Given the description of an element on the screen output the (x, y) to click on. 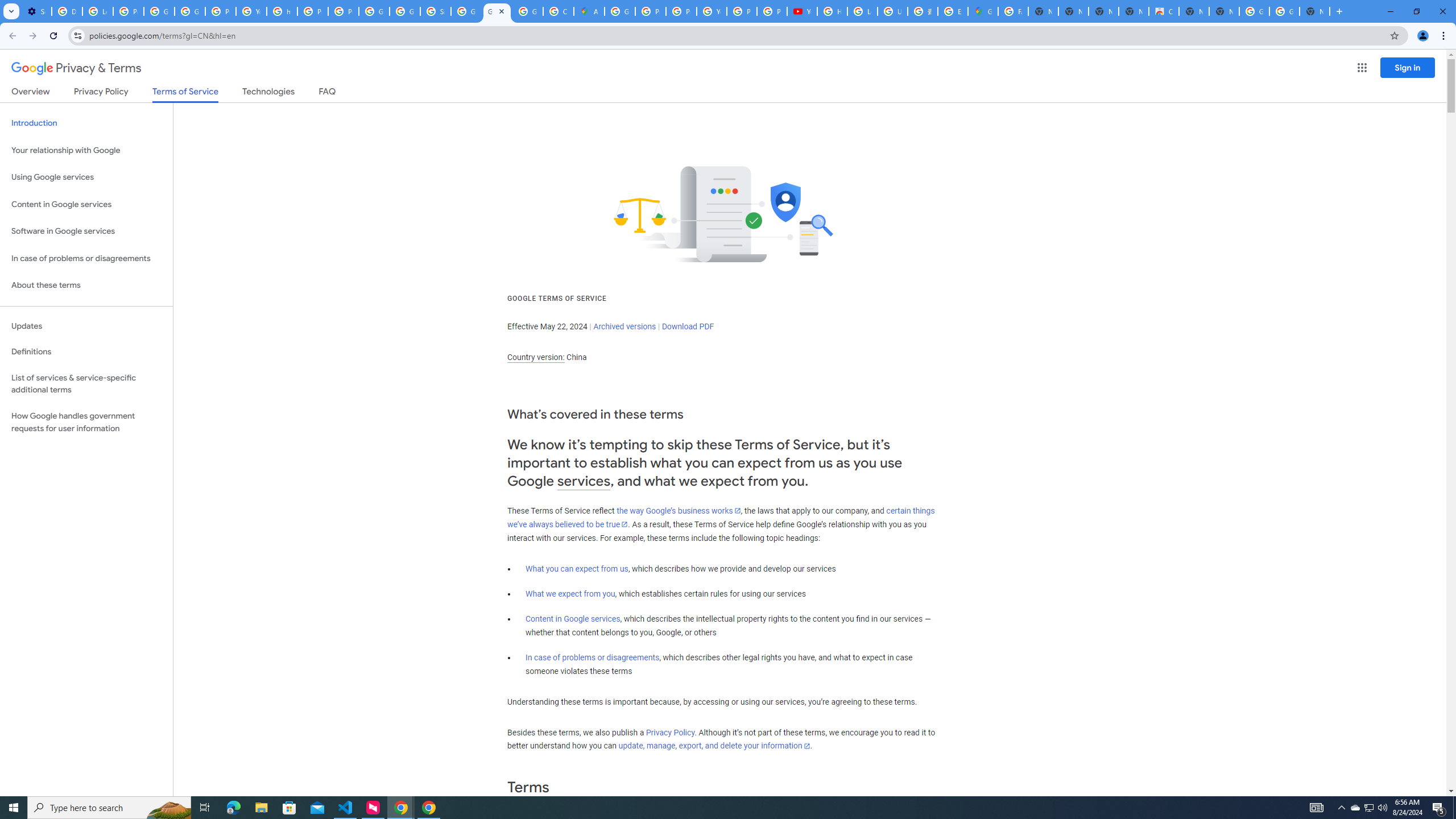
Country version: (535, 357)
Privacy Help Center - Policies Help (681, 11)
